Given the description of an element on the screen output the (x, y) to click on. 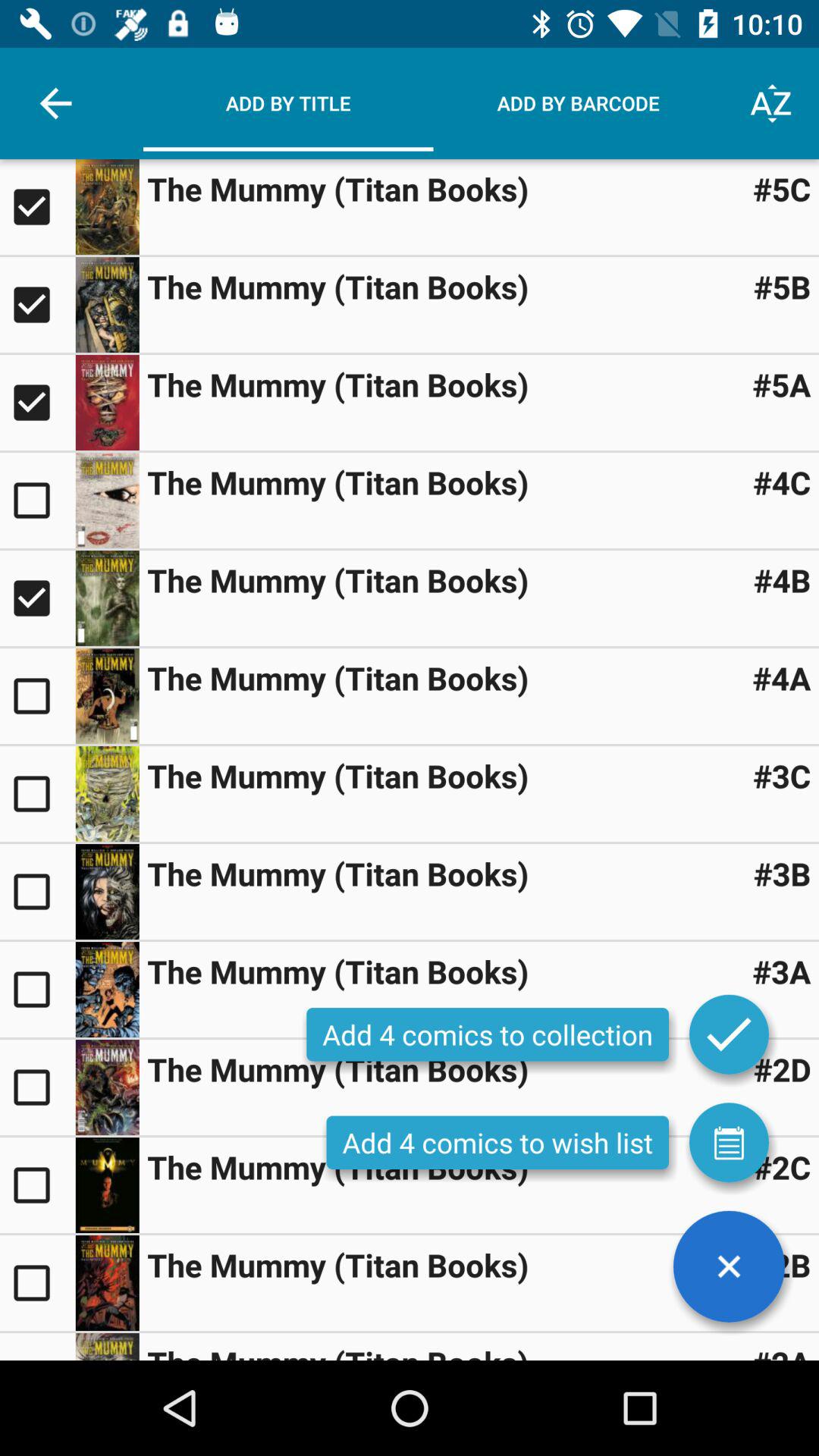
select option (107, 598)
